Given the description of an element on the screen output the (x, y) to click on. 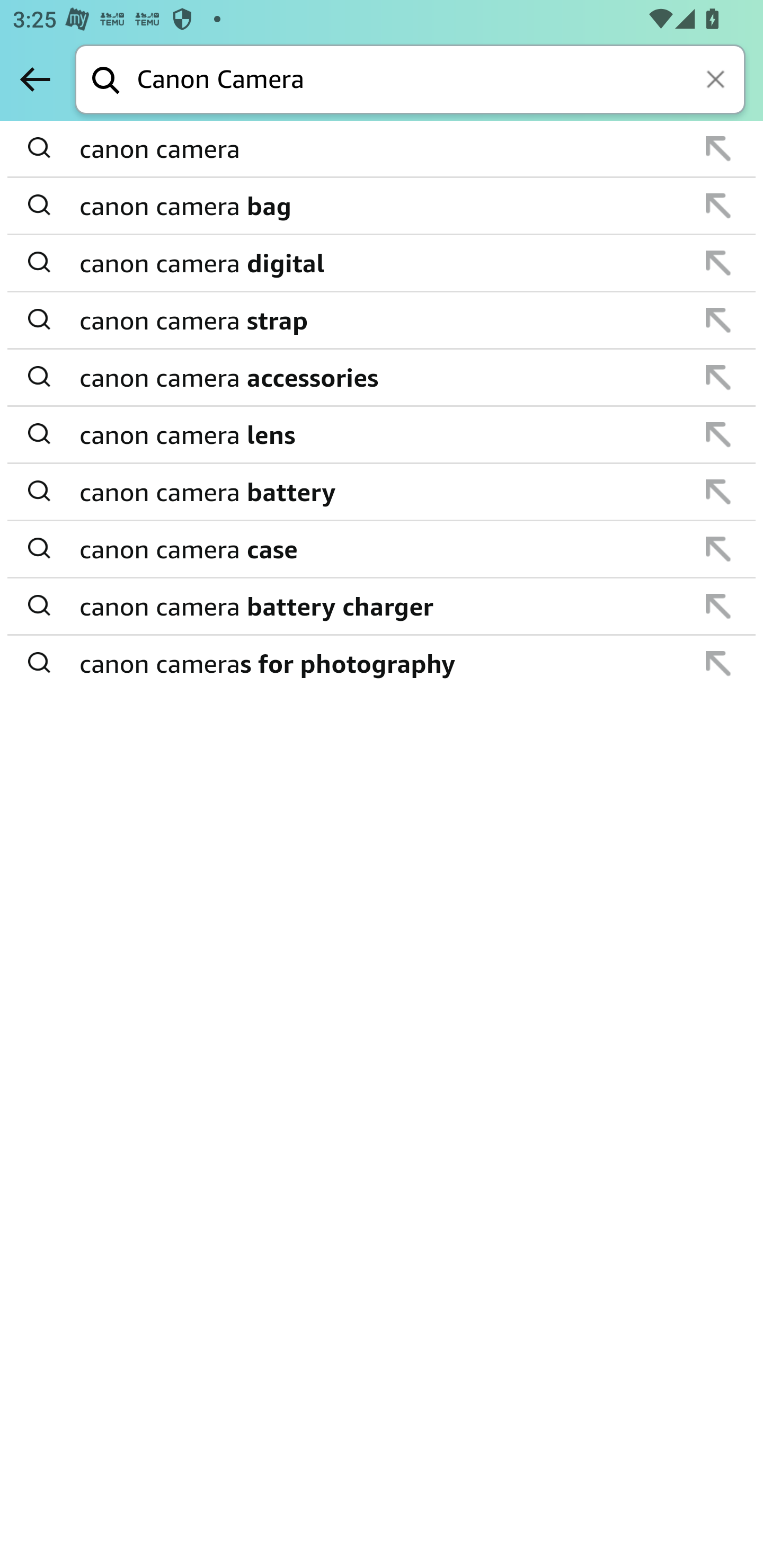
Canon Camera (440, 80)
Clear search keywords (717, 80)
Back (35, 78)
append suggestion canon camera (381, 149)
canon camera (382, 149)
append suggestion (718, 147)
canon camera bag (382, 205)
append suggestion canon camera bag (381, 206)
append suggestion (718, 205)
canon camera digital (382, 262)
append suggestion canon camera digital (381, 263)
append suggestion (718, 262)
canon camera strap (382, 319)
append suggestion canon camera strap (381, 320)
append suggestion (718, 319)
canon camera accessories (382, 377)
append suggestion canon camera accessories (381, 377)
append suggestion (718, 376)
canon camera lens (382, 434)
append suggestion canon camera lens (381, 435)
append suggestion (718, 434)
canon camera battery (382, 491)
append suggestion canon camera battery (381, 492)
append suggestion (718, 491)
canon camera case (382, 548)
append suggestion canon camera case (381, 549)
append suggestion (718, 548)
canon camera battery charger (382, 606)
append suggestion canon camera battery charger (381, 606)
append suggestion (718, 605)
canon cameras for photography (382, 662)
append suggestion canon cameras for photography (381, 663)
append suggestion (718, 663)
